Given the description of an element on the screen output the (x, y) to click on. 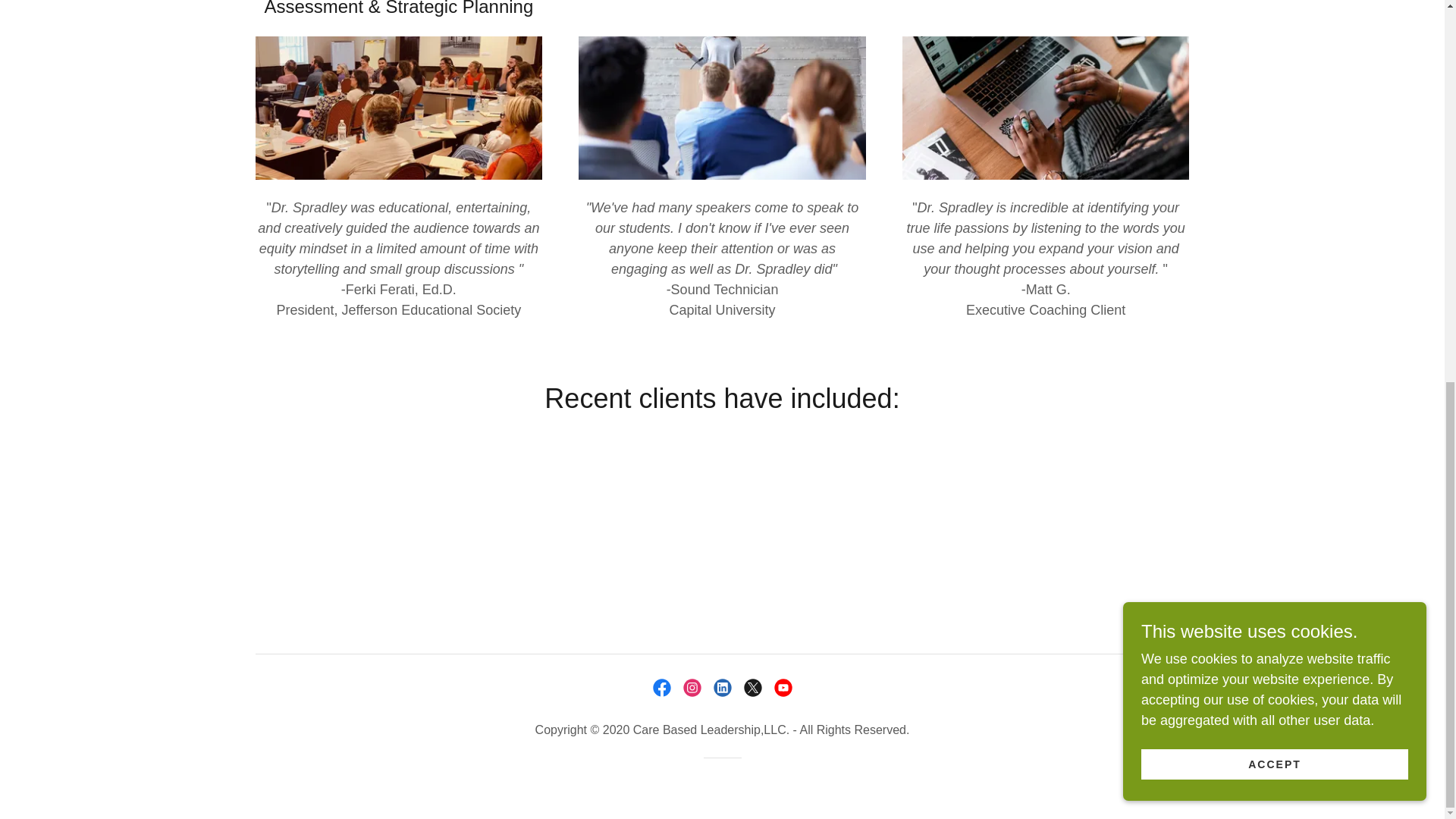
ACCEPT (1274, 51)
